Given the description of an element on the screen output the (x, y) to click on. 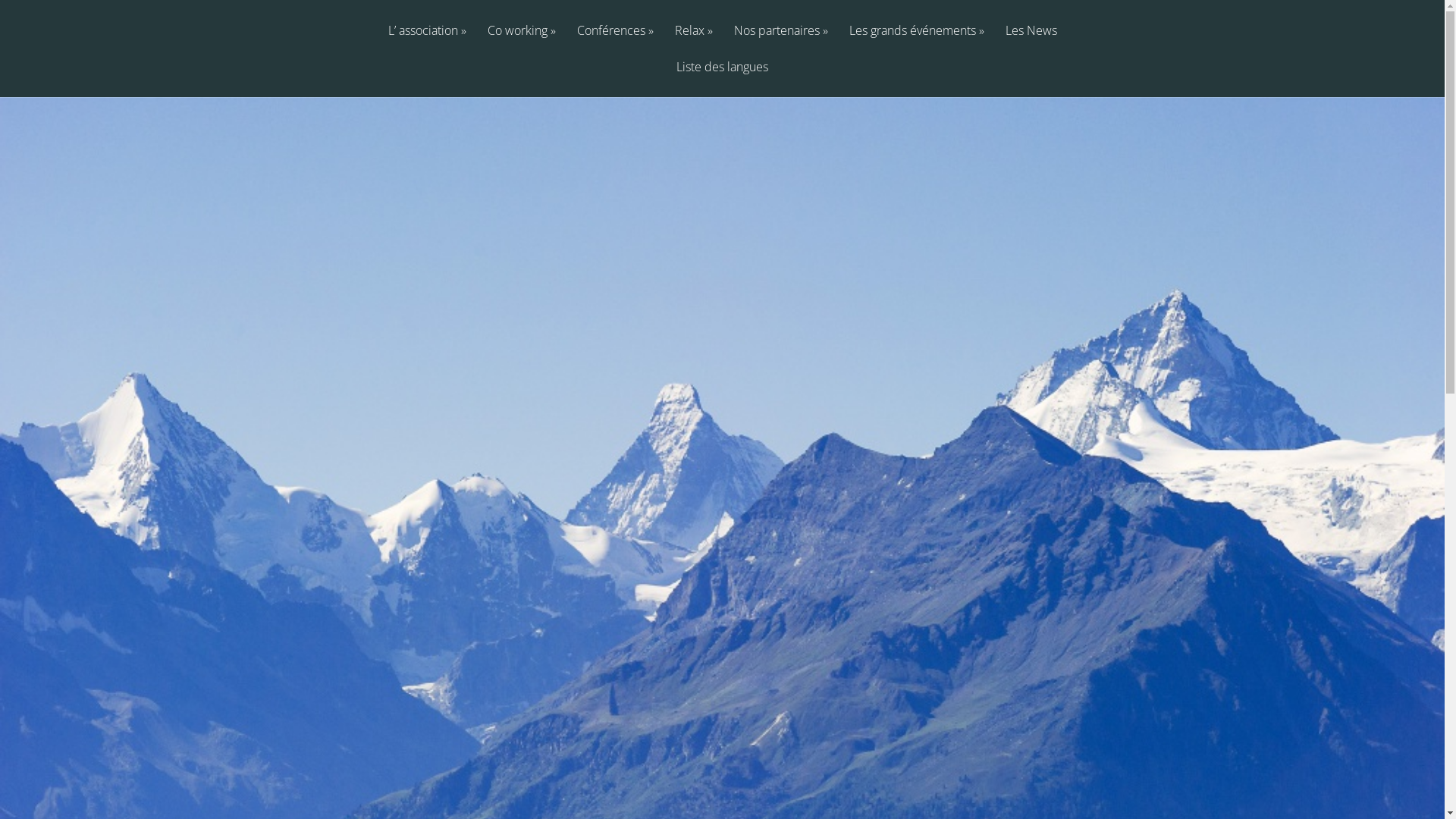
Nos partenaires Element type: text (780, 42)
Co working Element type: text (520, 42)
Liste des langues Element type: text (722, 78)
Relax Element type: text (693, 42)
Les News Element type: text (1031, 42)
